Given the description of an element on the screen output the (x, y) to click on. 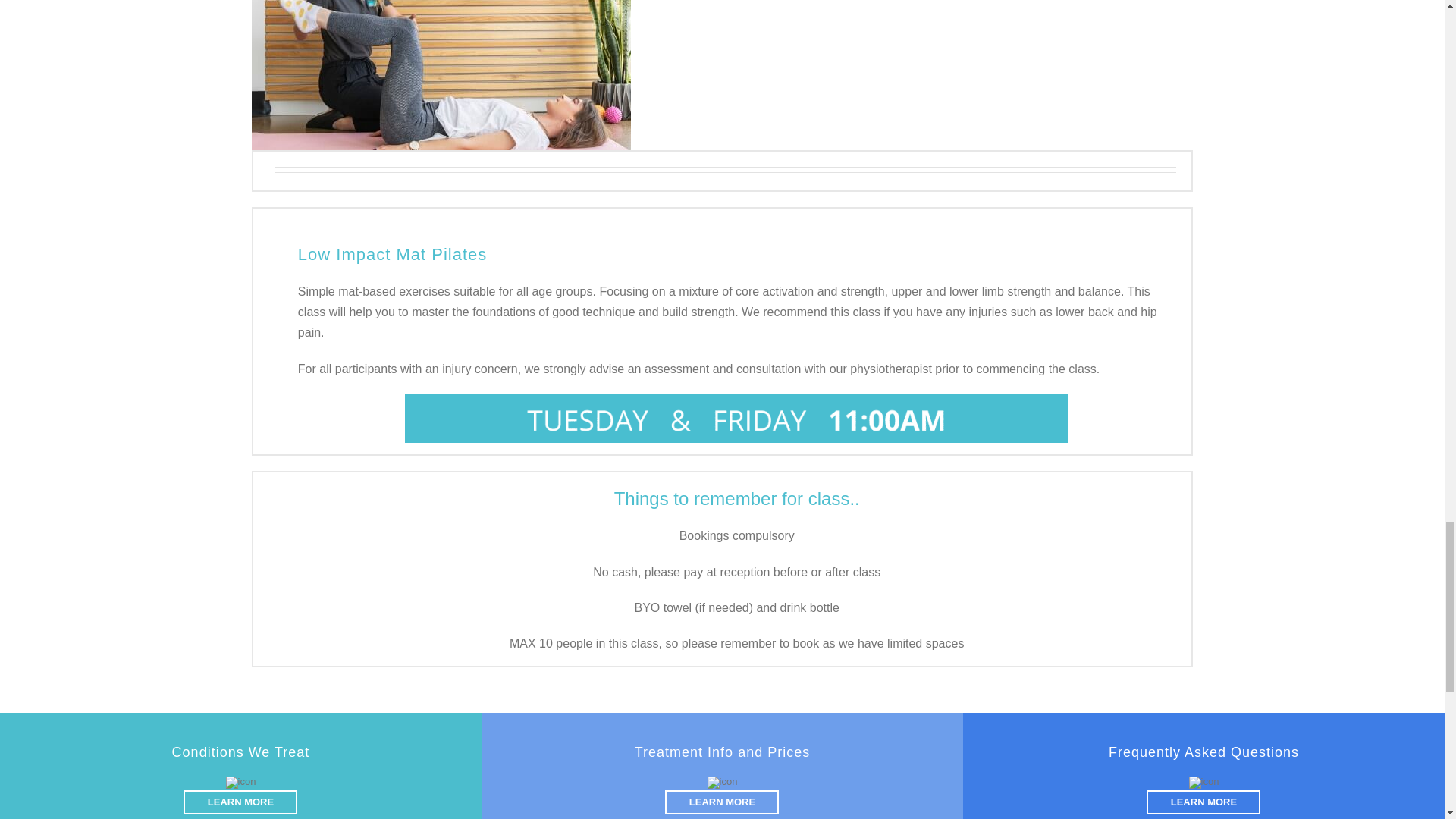
Pilates Marcus Hill (440, 74)
icon (722, 782)
icon (1204, 782)
icon (240, 782)
